Given the description of an element on the screen output the (x, y) to click on. 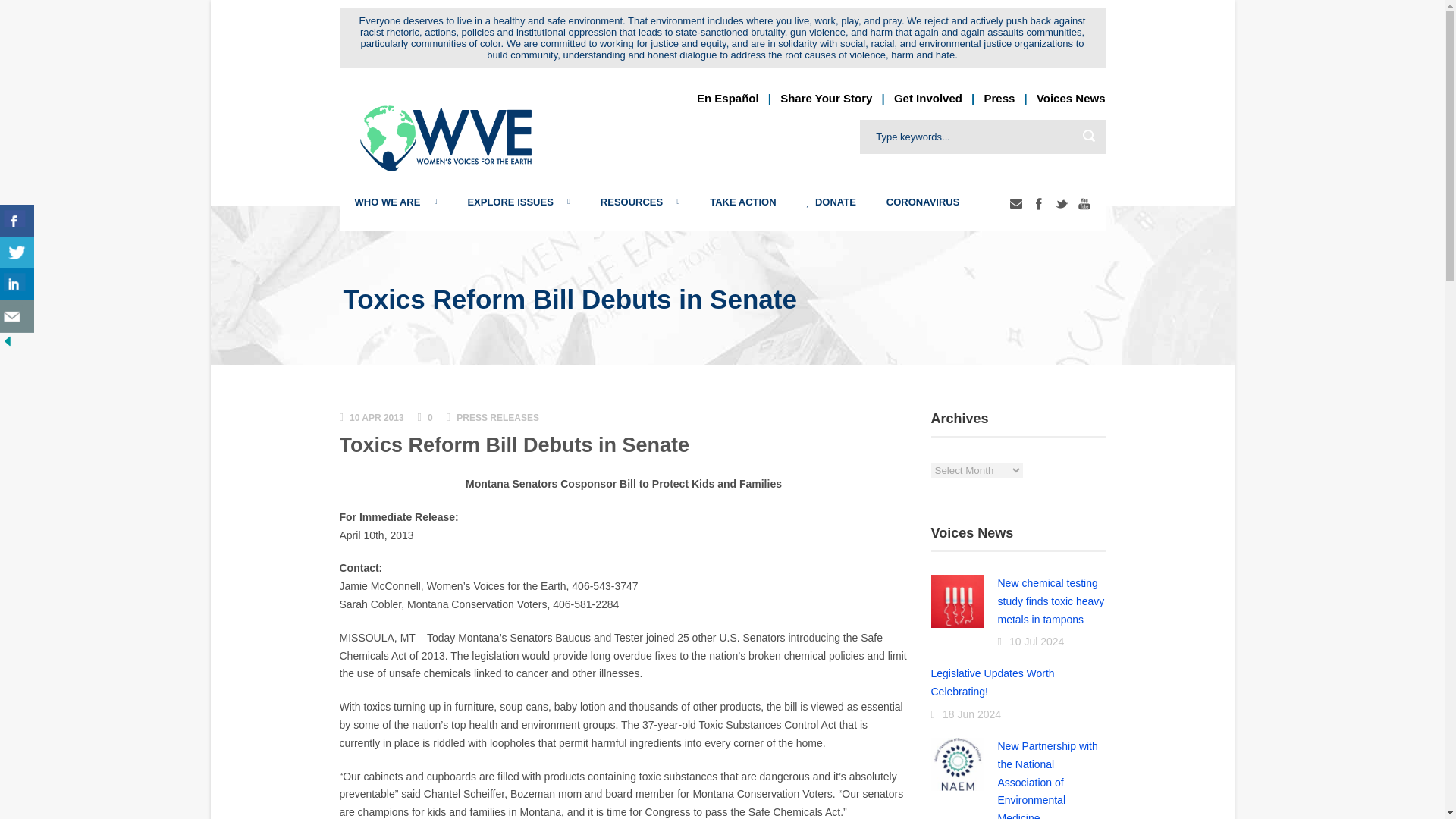
Contact us (16, 316)
Type keywords... (982, 136)
Share On Facebook (16, 220)
Share On Linkedin (16, 284)
Hide Buttons (7, 340)
Avoid Toxic Chemicals (639, 202)
Share On Twitter (16, 252)
